Given the description of an element on the screen output the (x, y) to click on. 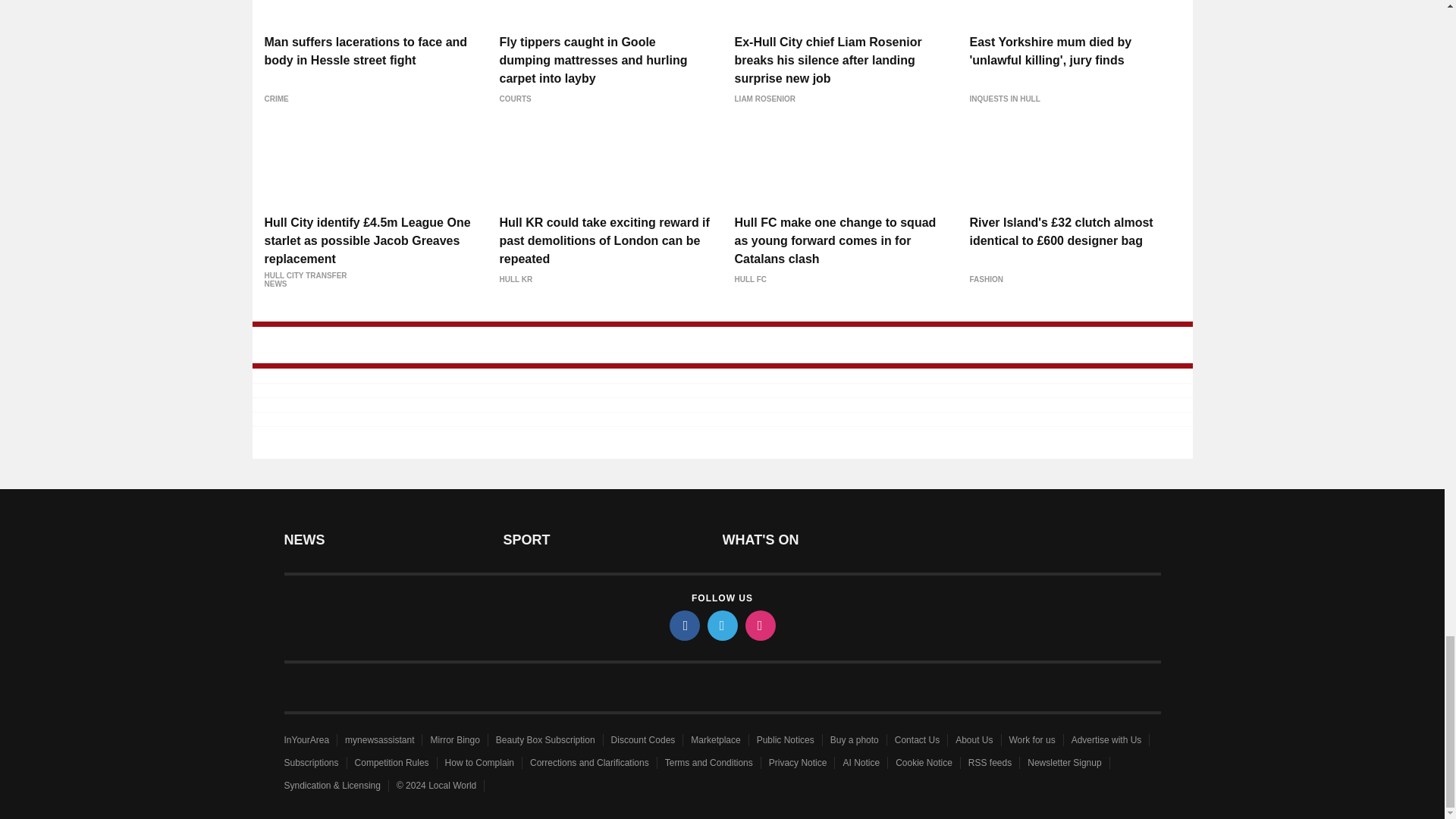
facebook (683, 625)
twitter (721, 625)
instagram (759, 625)
